Given the description of an element on the screen output the (x, y) to click on. 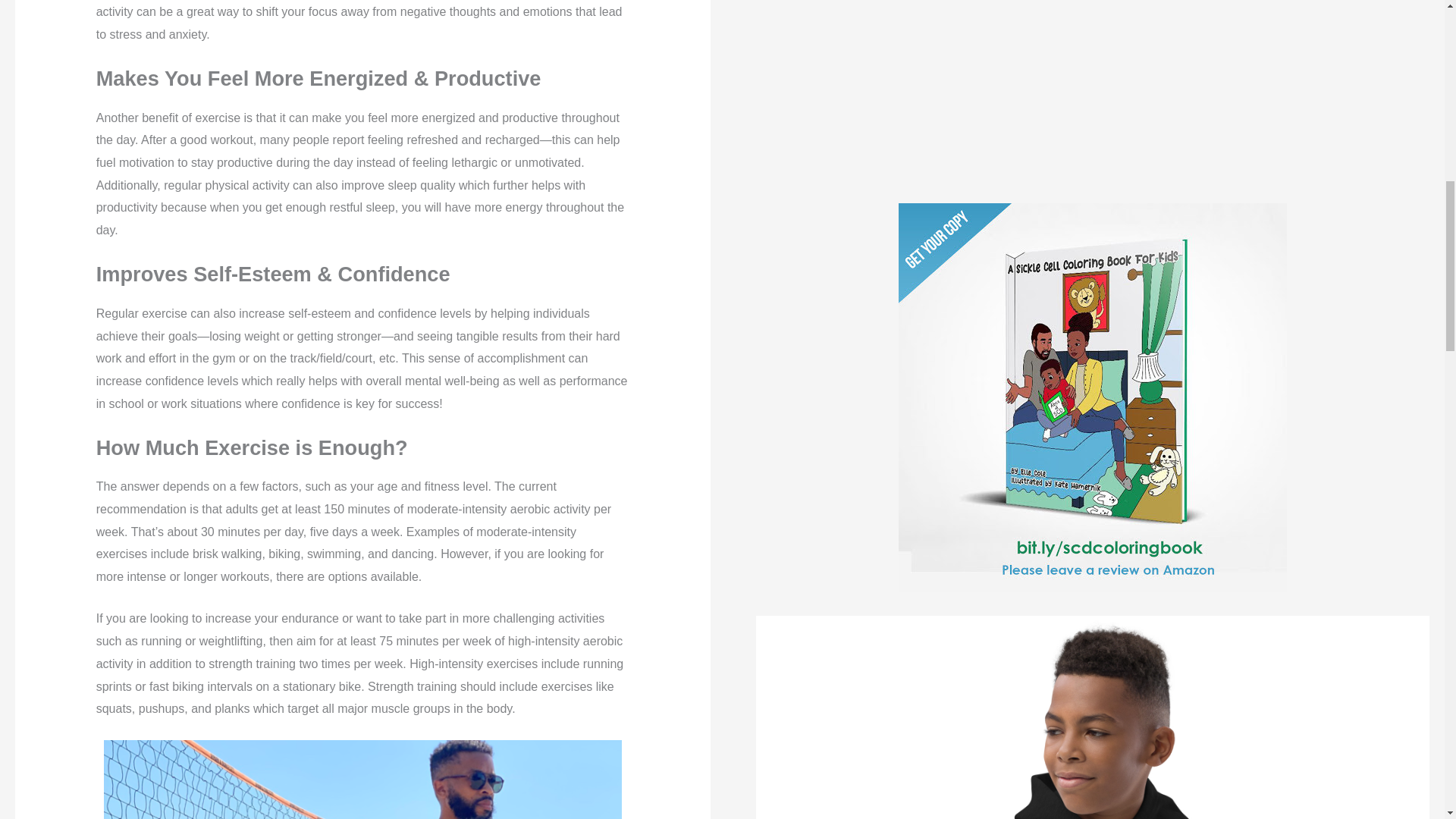
Advertisement (869, 80)
